Given the description of an element on the screen output the (x, y) to click on. 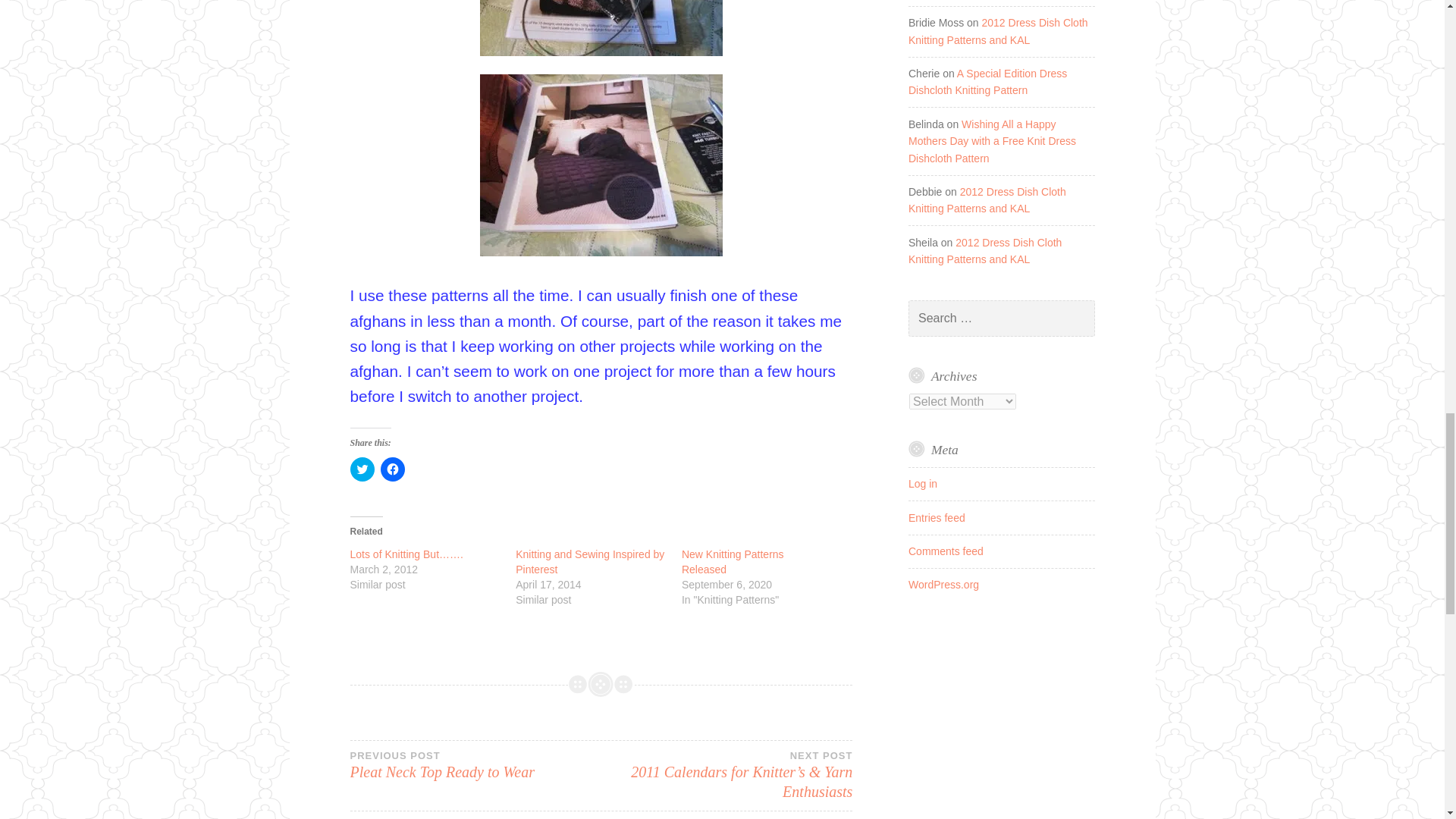
Click to share on Twitter (362, 469)
Knitting and Sewing Inspired by Pinterest (475, 764)
New Knitting Patterns Released (589, 560)
Click to share on Facebook (732, 560)
Knitting and Sewing Inspired by Pinterest (392, 469)
New Knitting Patterns Released (589, 560)
